Given the description of an element on the screen output the (x, y) to click on. 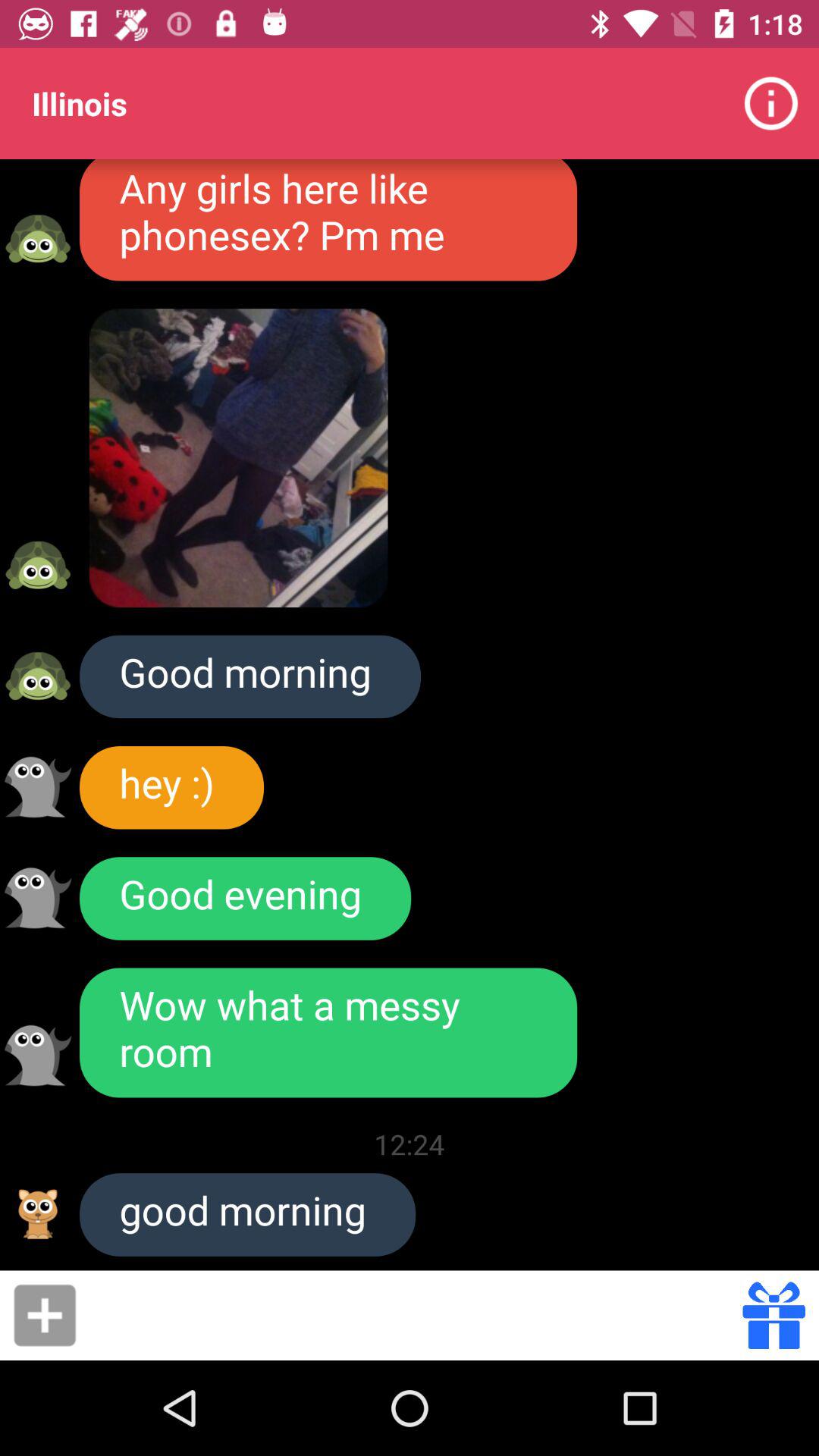
add person (44, 1315)
